Given the description of an element on the screen output the (x, y) to click on. 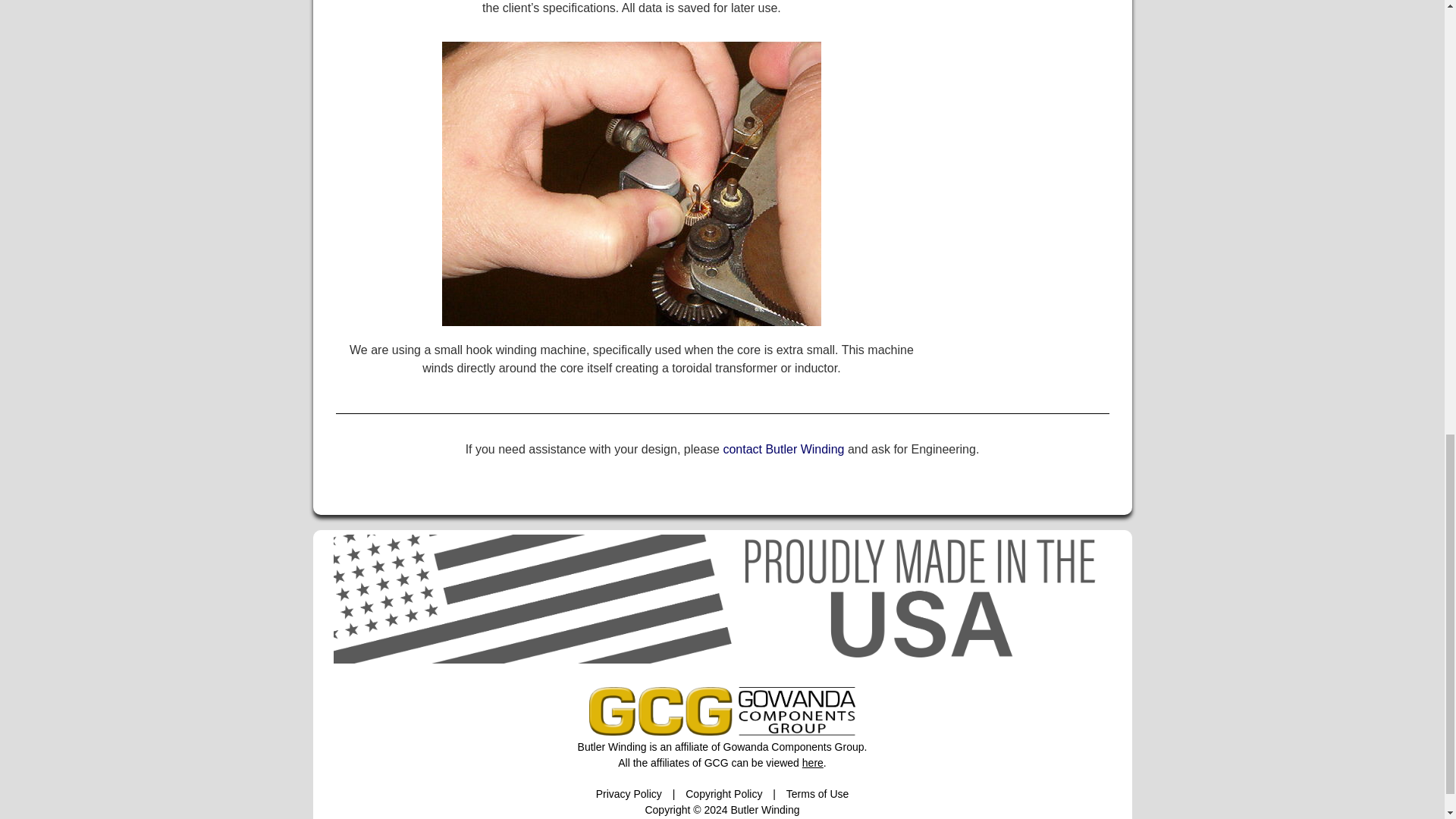
contact Butler Winding (783, 449)
